Given the description of an element on the screen output the (x, y) to click on. 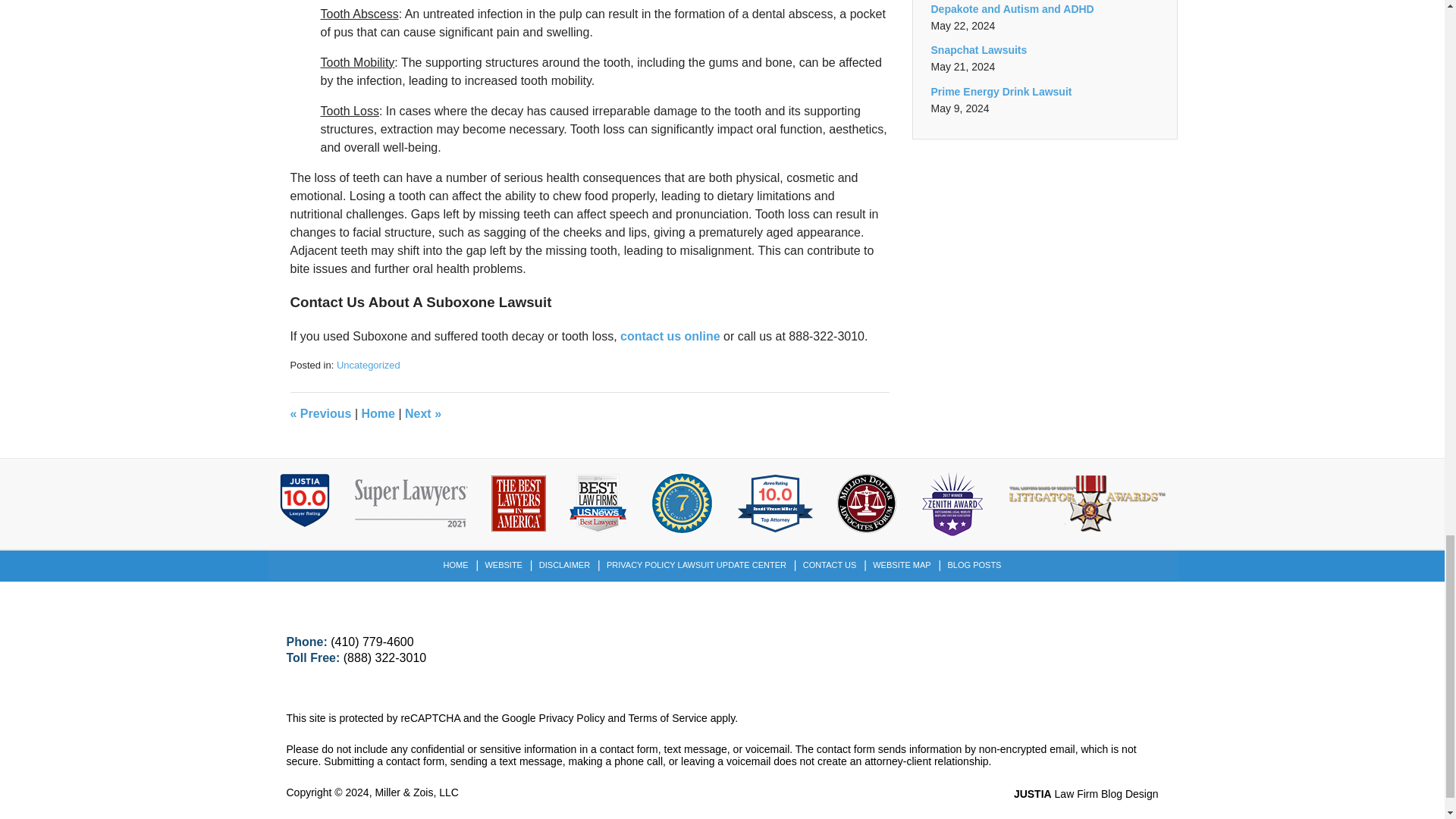
Home (377, 413)
Uncategorized (368, 365)
contact us online (670, 336)
Who Qualifies for a Paraquat Lawsuit (422, 413)
View all posts in Uncategorized (368, 365)
Who Qualifies for a CPAP Lawsuit? (319, 413)
